Given the description of an element on the screen output the (x, y) to click on. 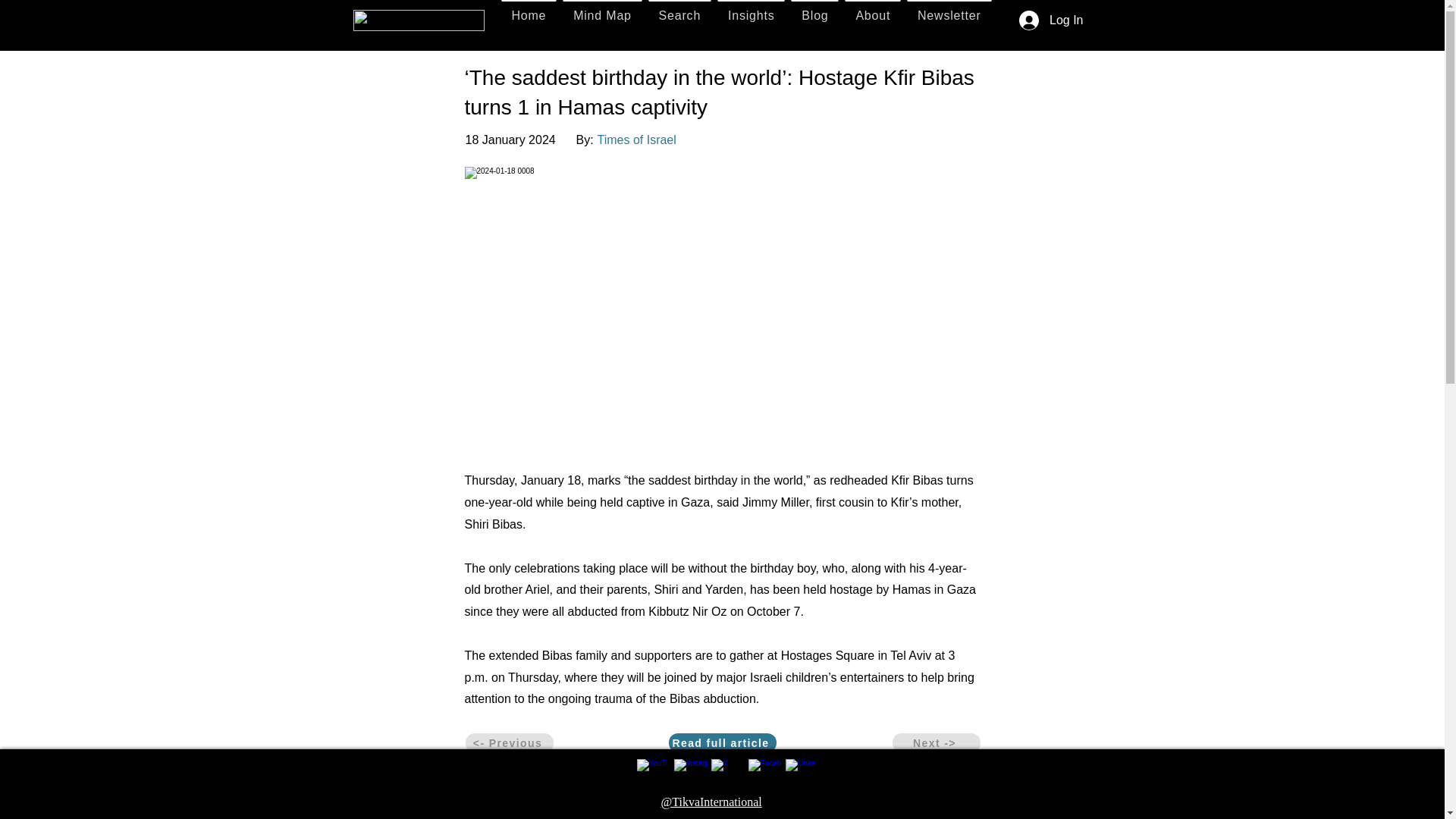
About (872, 15)
Log In (1051, 20)
Search (679, 15)
Home (528, 15)
Blog (814, 15)
Read full article (722, 742)
Mind Map (602, 15)
Newsletter (949, 15)
Insights (750, 15)
